Given the description of an element on the screen output the (x, y) to click on. 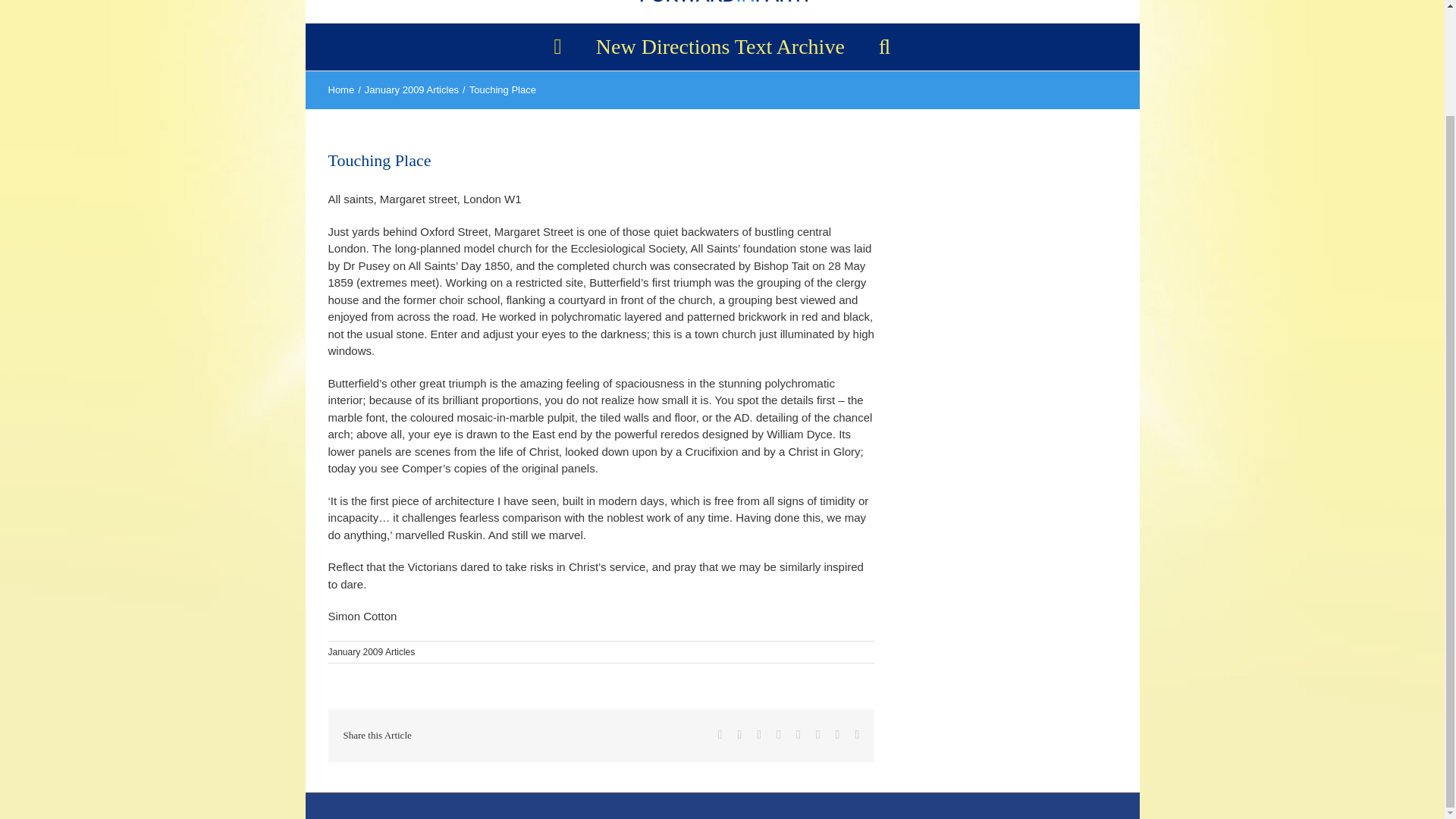
Home (340, 89)
January 2009 Articles (411, 89)
New Directions Directions (719, 46)
New Directions Text Archive (719, 46)
January 2009 Articles (370, 652)
